Given the description of an element on the screen output the (x, y) to click on. 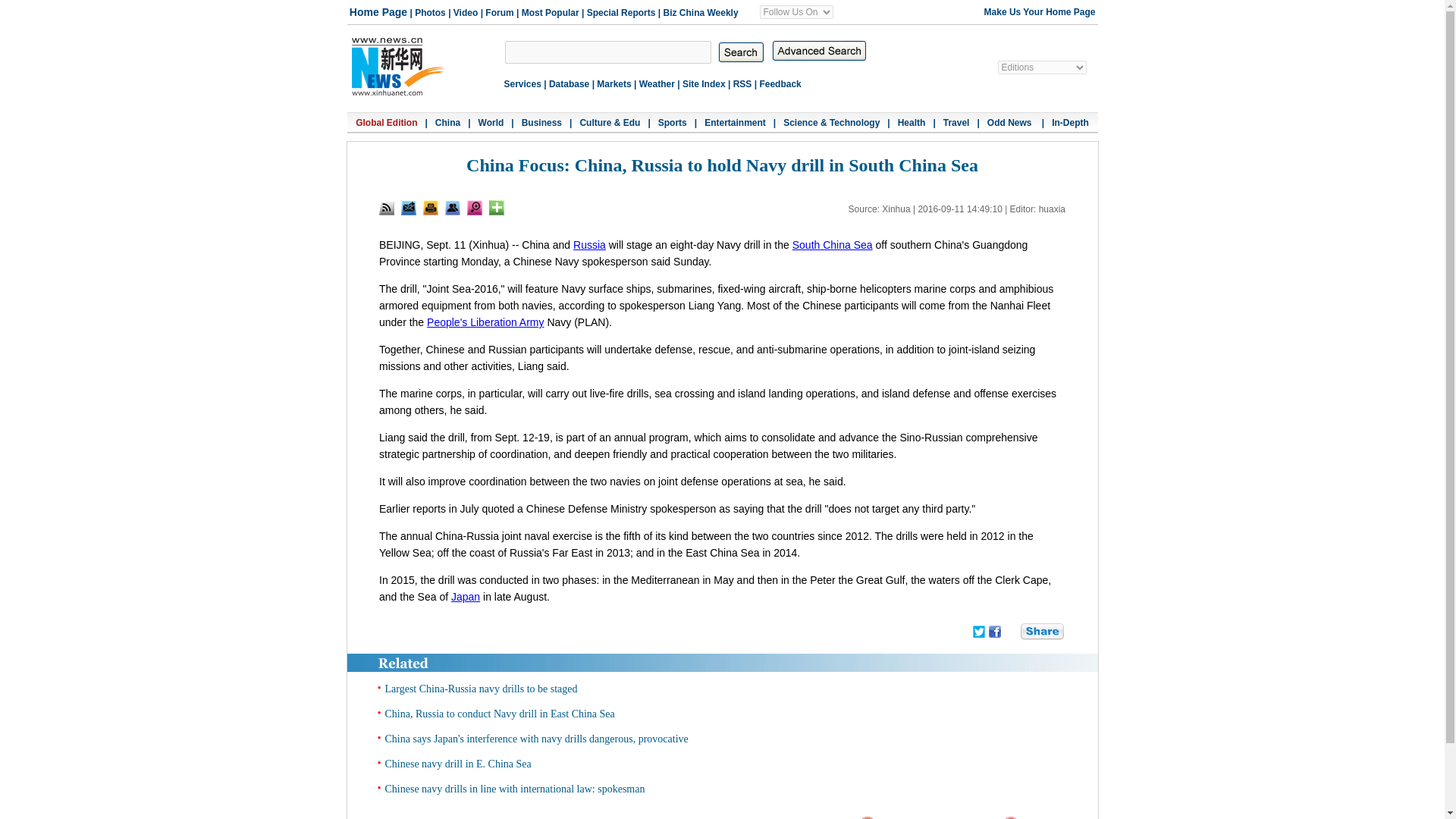
Site Index (703, 83)
RSS (742, 83)
Most Popular (550, 12)
Entertainment (734, 122)
Feedback (779, 83)
Feedback (408, 207)
Global Edition (385, 122)
Photos (429, 12)
Health (912, 122)
Sports (672, 122)
